Given the description of an element on the screen output the (x, y) to click on. 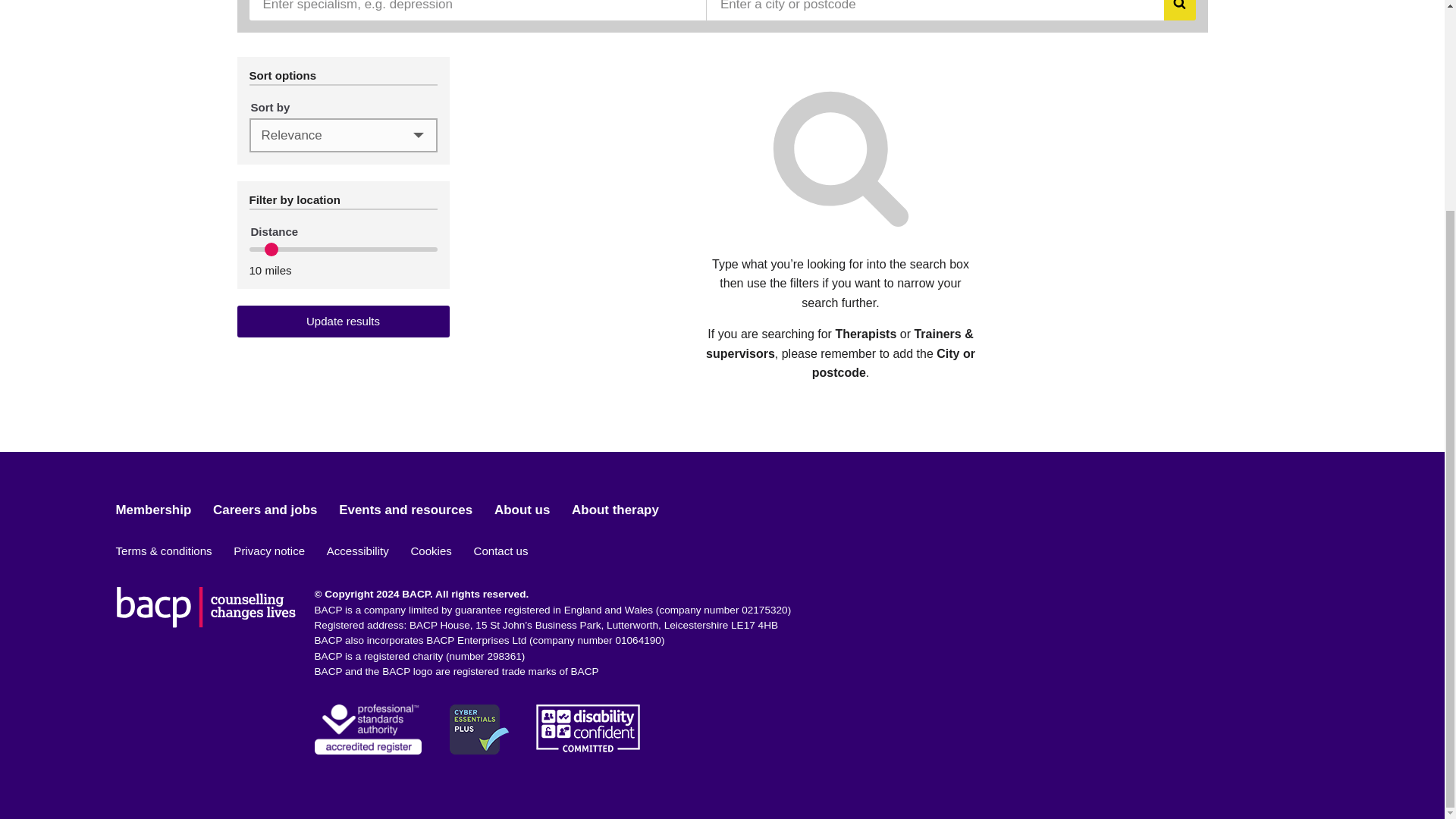
10 (342, 249)
